Given the description of an element on the screen output the (x, y) to click on. 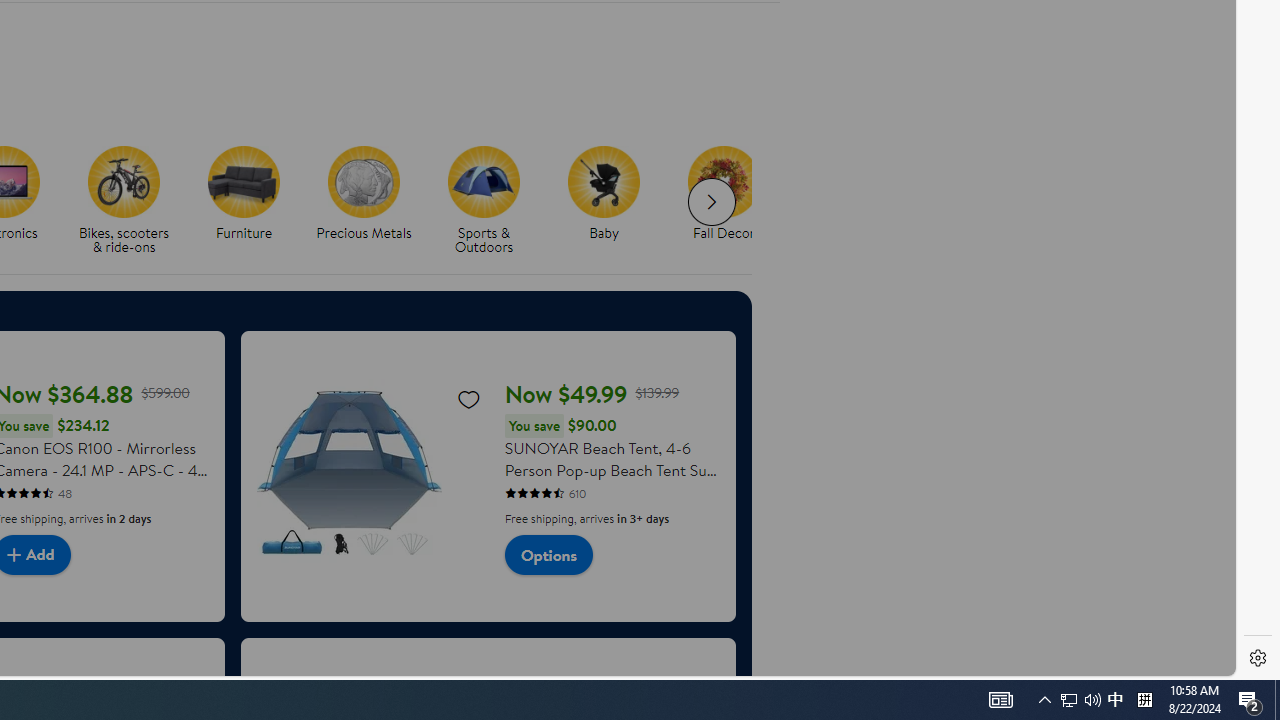
Baby Baby (603, 194)
Precious Metals (372, 200)
Bikes, scooters & ride-ons Bikes, scooters & ride-ons (123, 200)
Sports & Outdoors (491, 200)
Next slide for chipModuleWithImages list (712, 201)
Furniture (252, 200)
Fall Decor Fall Decor (723, 194)
Sports & Outdoors Sports & Outdoors (484, 200)
Sports & Outdoors (483, 181)
Baby (604, 181)
Precious Metals Precious Metals (364, 194)
Fall Decor (732, 200)
